Given the description of an element on the screen output the (x, y) to click on. 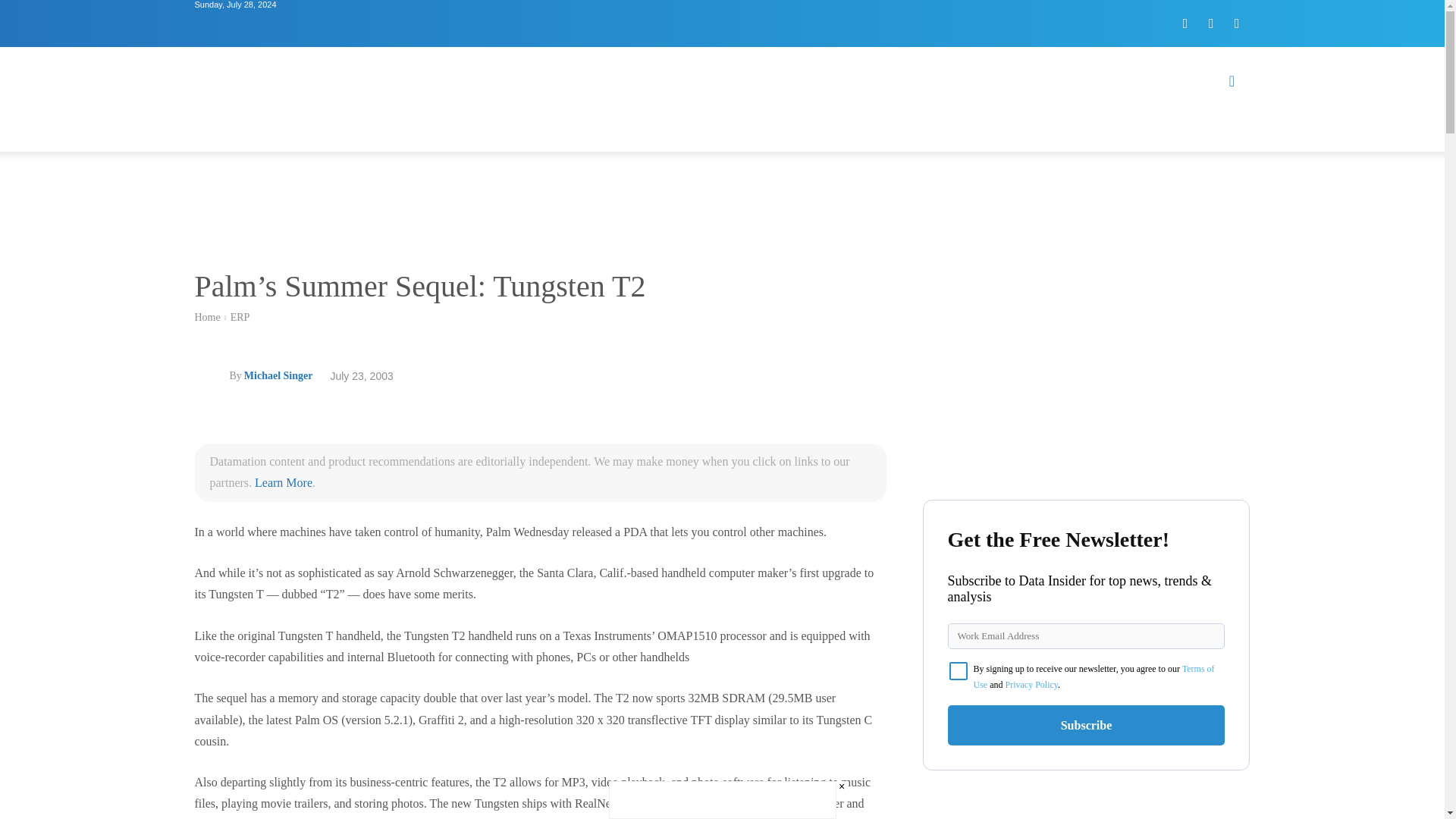
Facebook (1185, 23)
Twitter (1211, 23)
Michael Singer (278, 375)
Learn More (283, 481)
View all posts in ERP (240, 317)
on (958, 670)
Home (206, 317)
ERP (240, 317)
Michael Singer (210, 376)
Youtube (1236, 23)
